Given the description of an element on the screen output the (x, y) to click on. 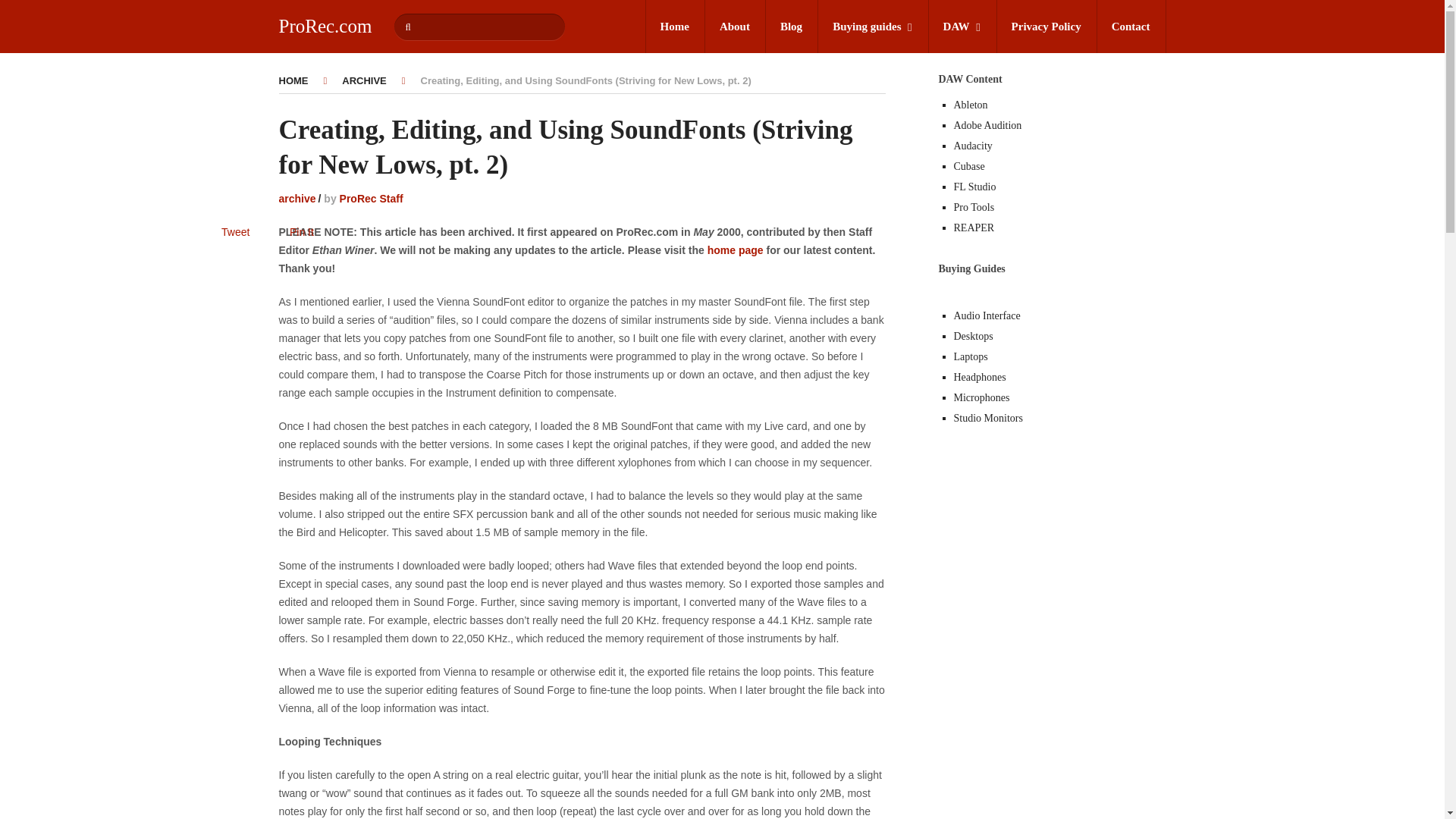
DAW (961, 26)
Buying guides (871, 26)
Blog (790, 26)
Privacy Policy (1045, 26)
About (734, 26)
Contact (1131, 26)
Posts by ProRec Staff (371, 198)
View all posts in archive (297, 198)
Home (674, 26)
ProRec.com (325, 26)
